Given the description of an element on the screen output the (x, y) to click on. 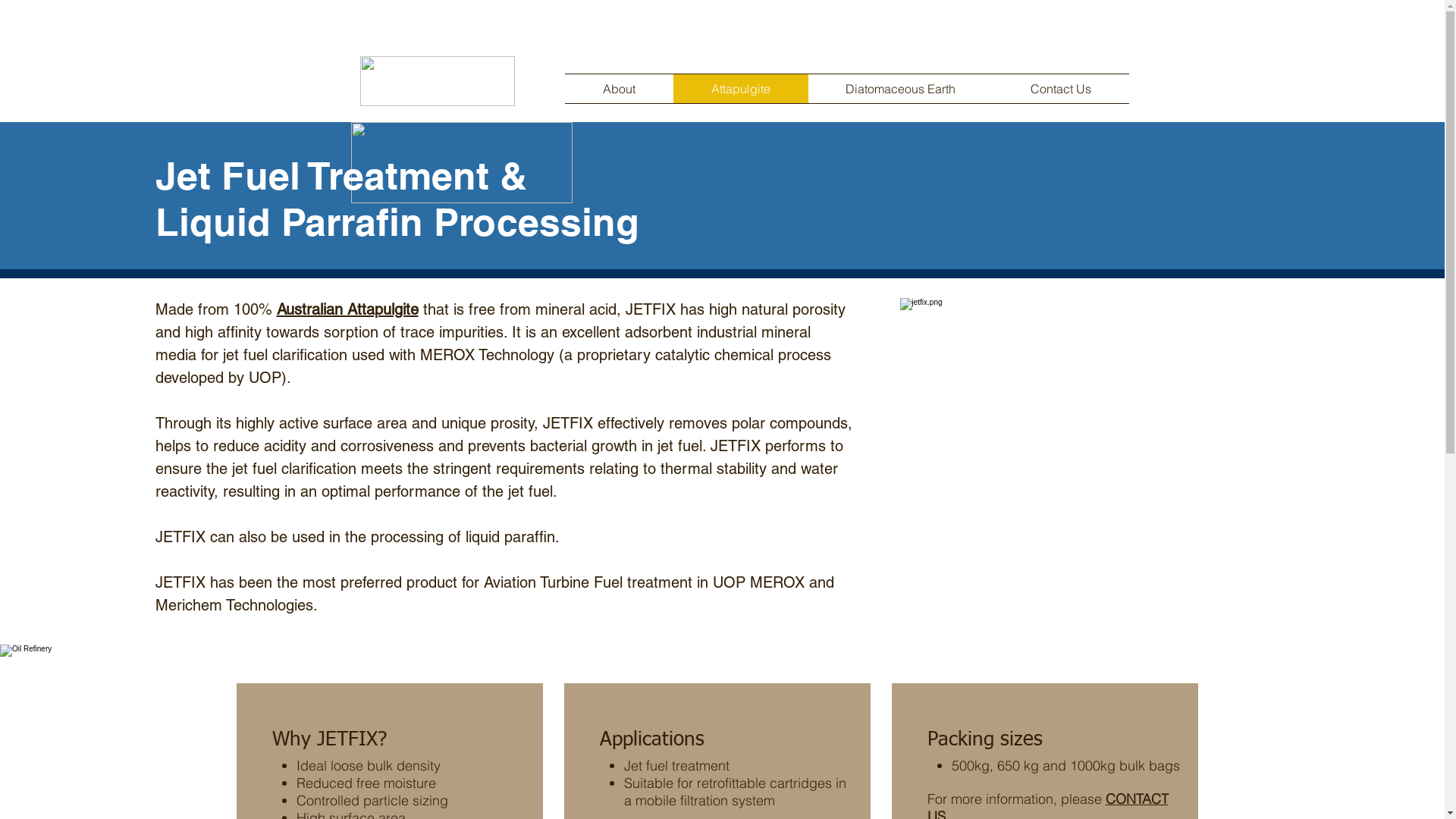
About Element type: text (618, 88)
Diatomaceous Earth Element type: text (900, 88)
Contact Us Element type: text (1061, 88)
Australian Attapulgite Element type: text (346, 309)
Attapulgite Element type: text (740, 88)
